Given the description of an element on the screen output the (x, y) to click on. 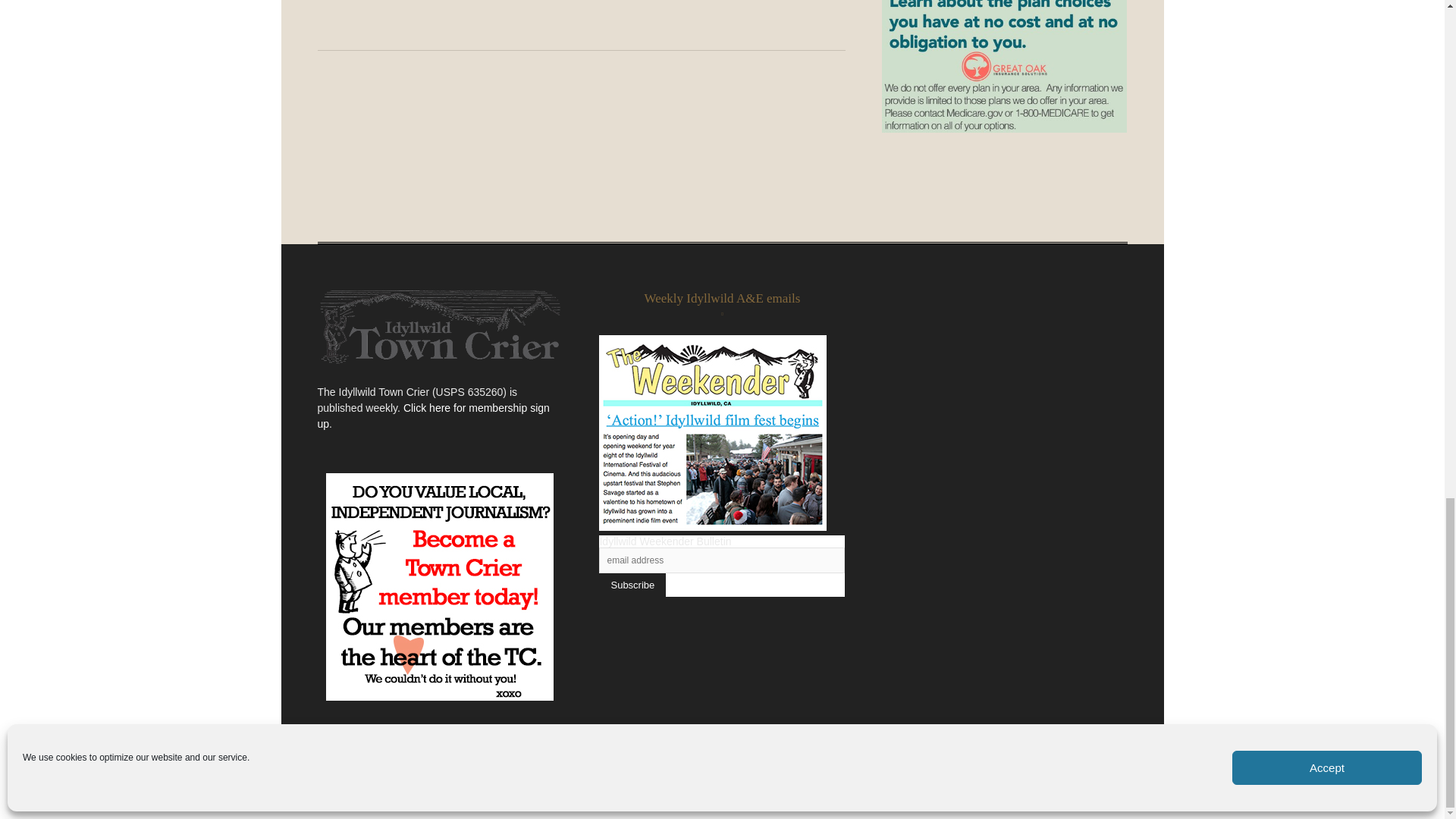
Subscribe (631, 585)
